Given the description of an element on the screen output the (x, y) to click on. 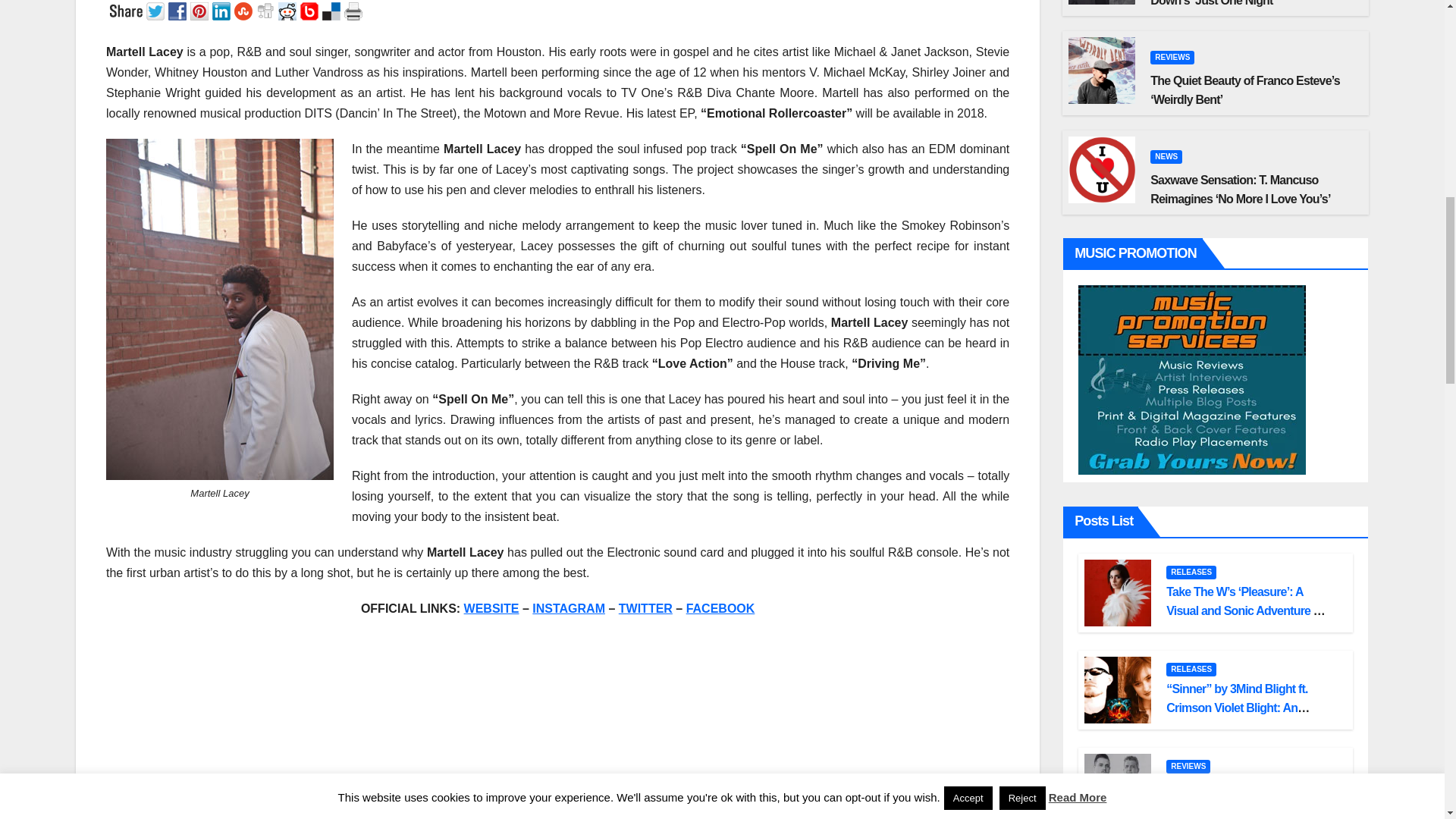
Pinterest (201, 10)
Twitter (157, 10)
Facebook (179, 10)
